Given the description of an element on the screen output the (x, y) to click on. 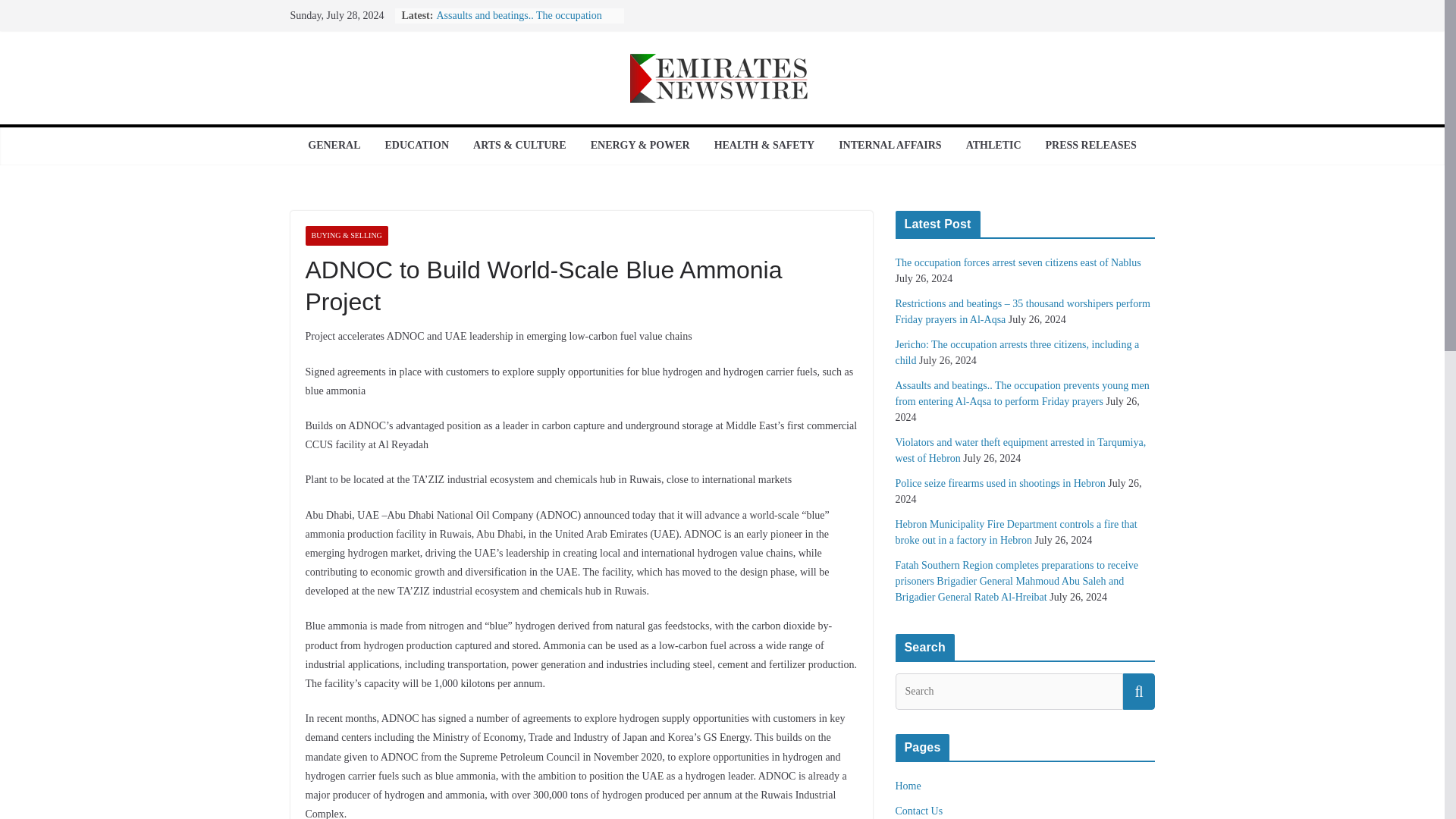
Police seize firearms used in shootings in Hebron (1000, 482)
PRESS RELEASES (1091, 146)
Home (907, 785)
The occupation forces arrest seven citizens east of Nablus (1017, 262)
EDUCATION (416, 146)
Contact Us (918, 810)
INTERNAL AFFAIRS (890, 146)
GENERAL (333, 146)
ATHLETIC (994, 146)
